Given the description of an element on the screen output the (x, y) to click on. 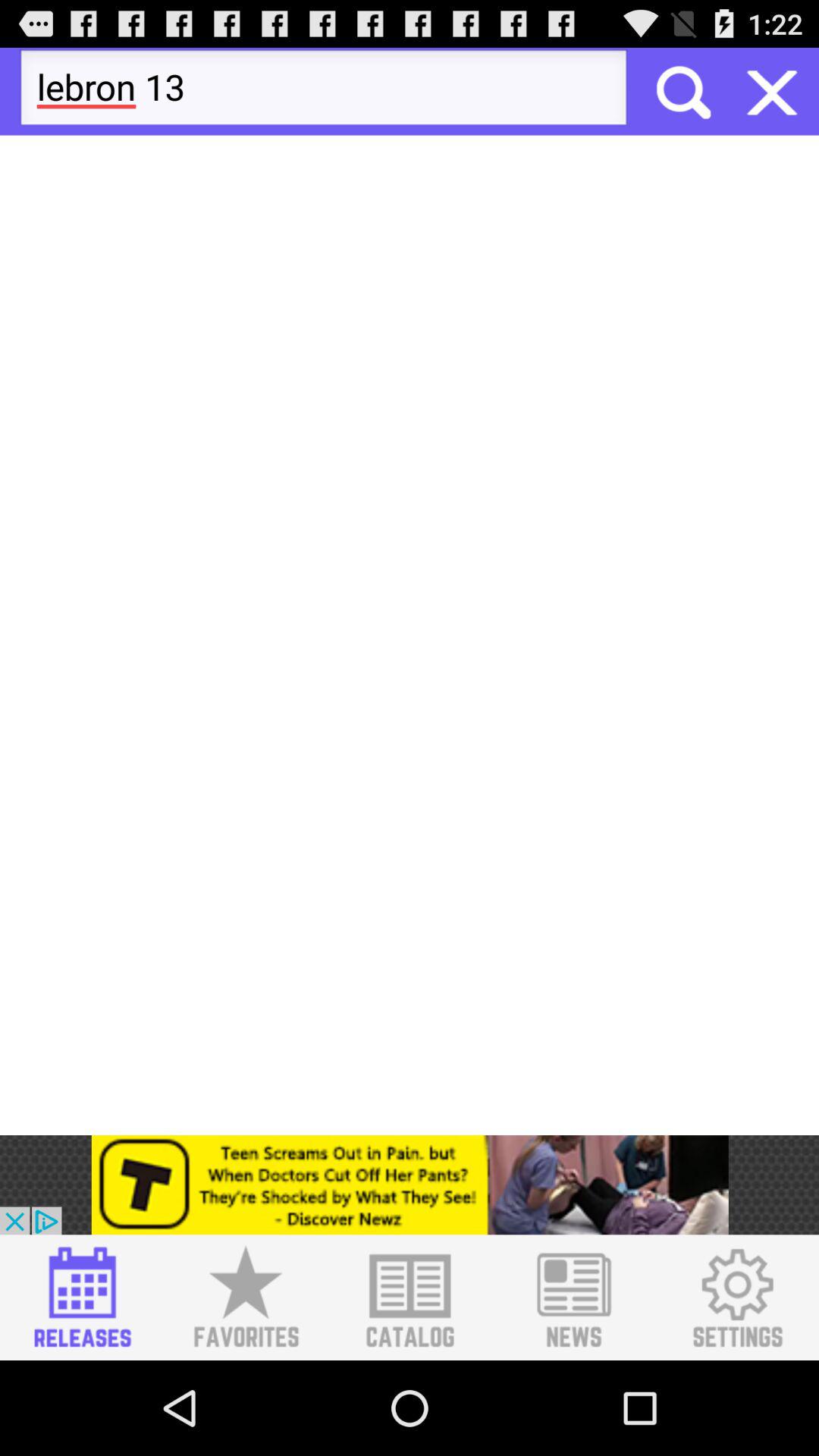
view sneaker releases (81, 1297)
